Given the description of an element on the screen output the (x, y) to click on. 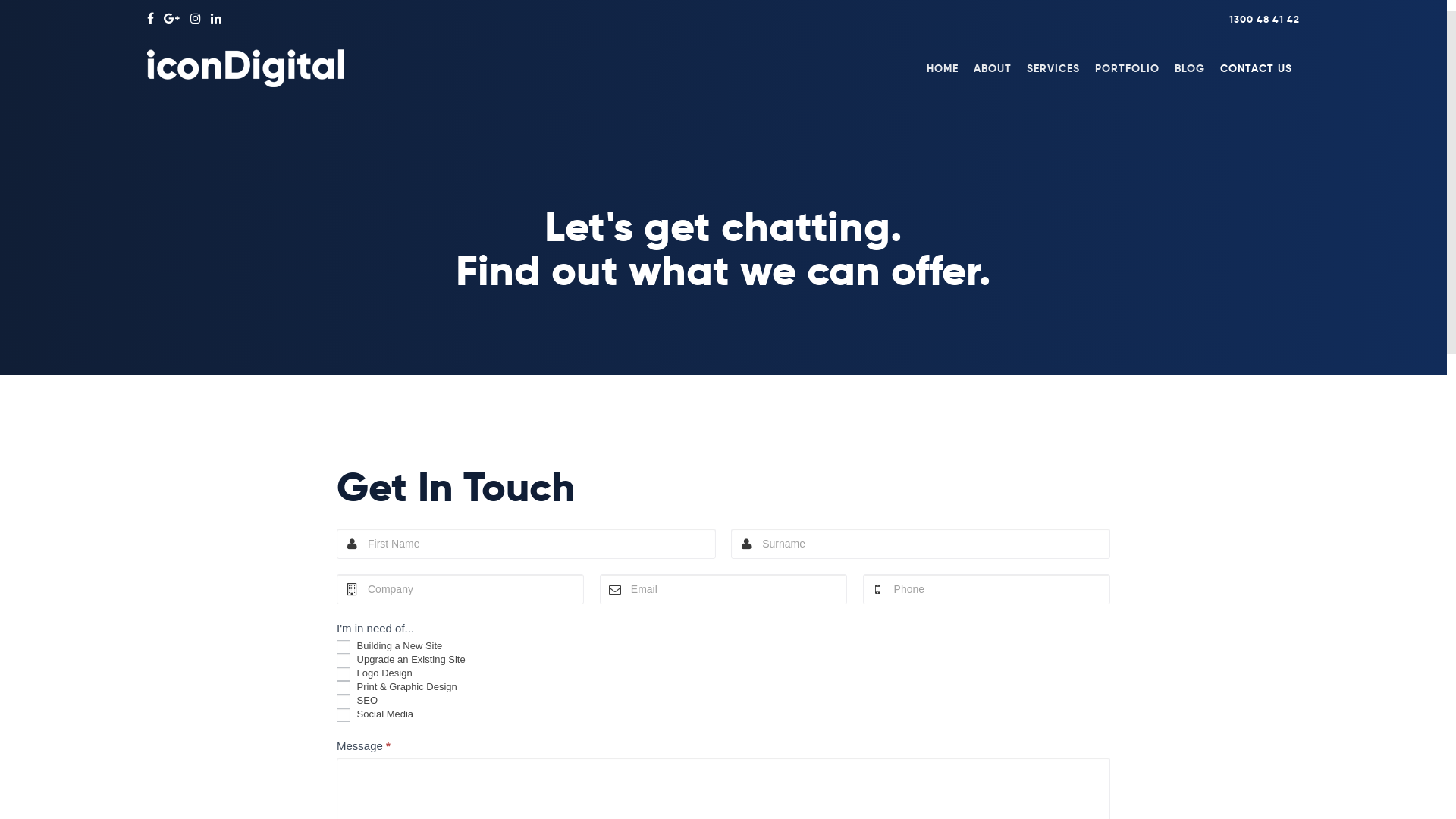
HOME Element type: text (942, 68)
ABOUT Element type: text (992, 68)
BLOG Element type: text (1189, 68)
1300 48 41 42 Element type: text (1264, 19)
PORTFOLIO Element type: text (1127, 68)
SERVICES Element type: text (1053, 68)
CONTACT US Element type: text (1255, 68)
